Given the description of an element on the screen output the (x, y) to click on. 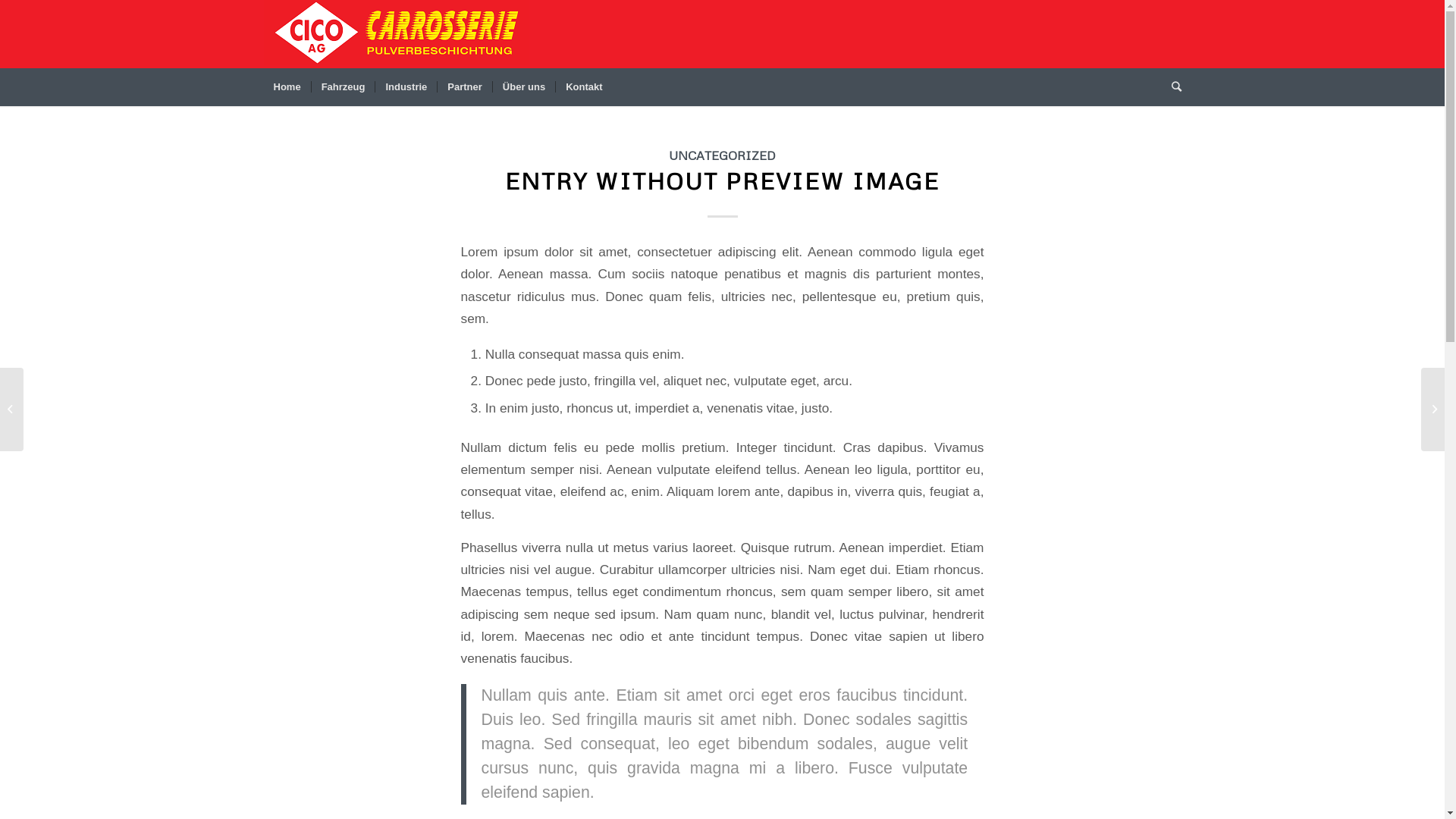
Home Element type: text (286, 87)
Industrie Element type: text (405, 87)
Kontakt Element type: text (583, 87)
ENTRY WITHOUT PREVIEW IMAGE Element type: text (722, 180)
UNCATEGORIZED Element type: text (721, 154)
Partner Element type: text (464, 87)
Fahrzeug Element type: text (342, 87)
